Given the description of an element on the screen output the (x, y) to click on. 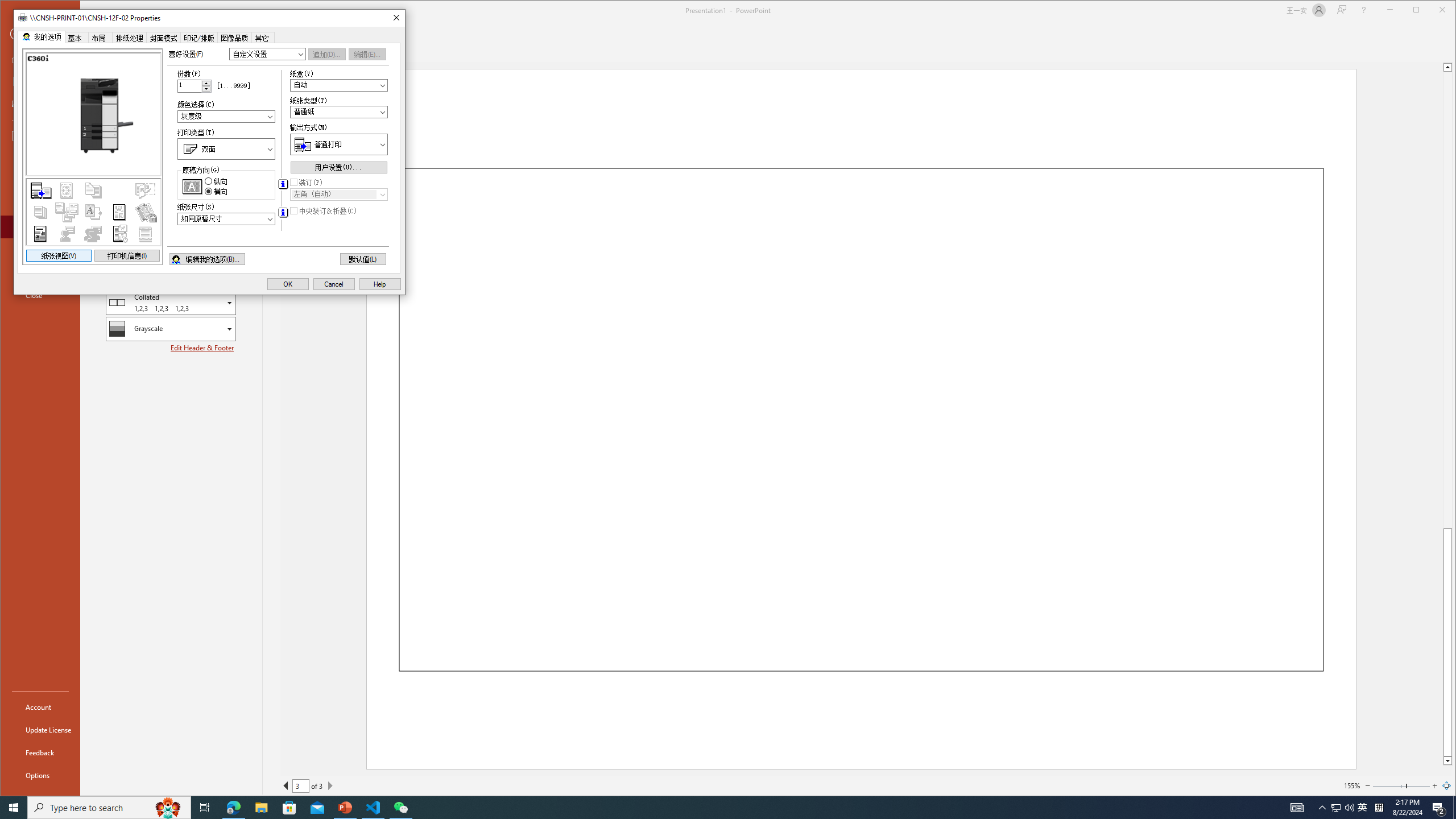
AutomationID: 2197 (282, 183)
